Given the description of an element on the screen output the (x, y) to click on. 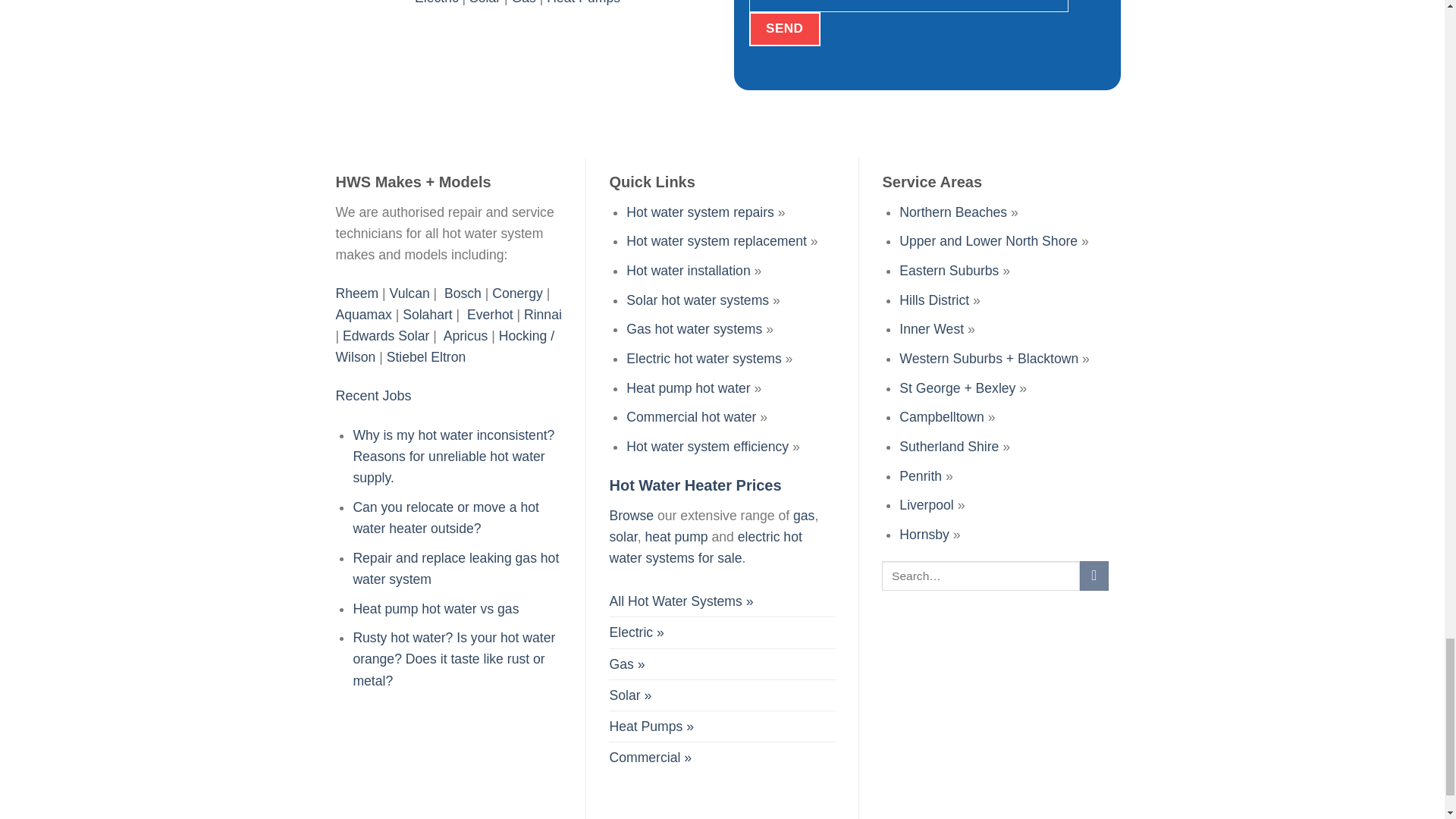
buy electric hot water system (635, 632)
Send (785, 28)
buy gas hot water system (626, 664)
buy solar hot water system (629, 695)
